Given the description of an element on the screen output the (x, y) to click on. 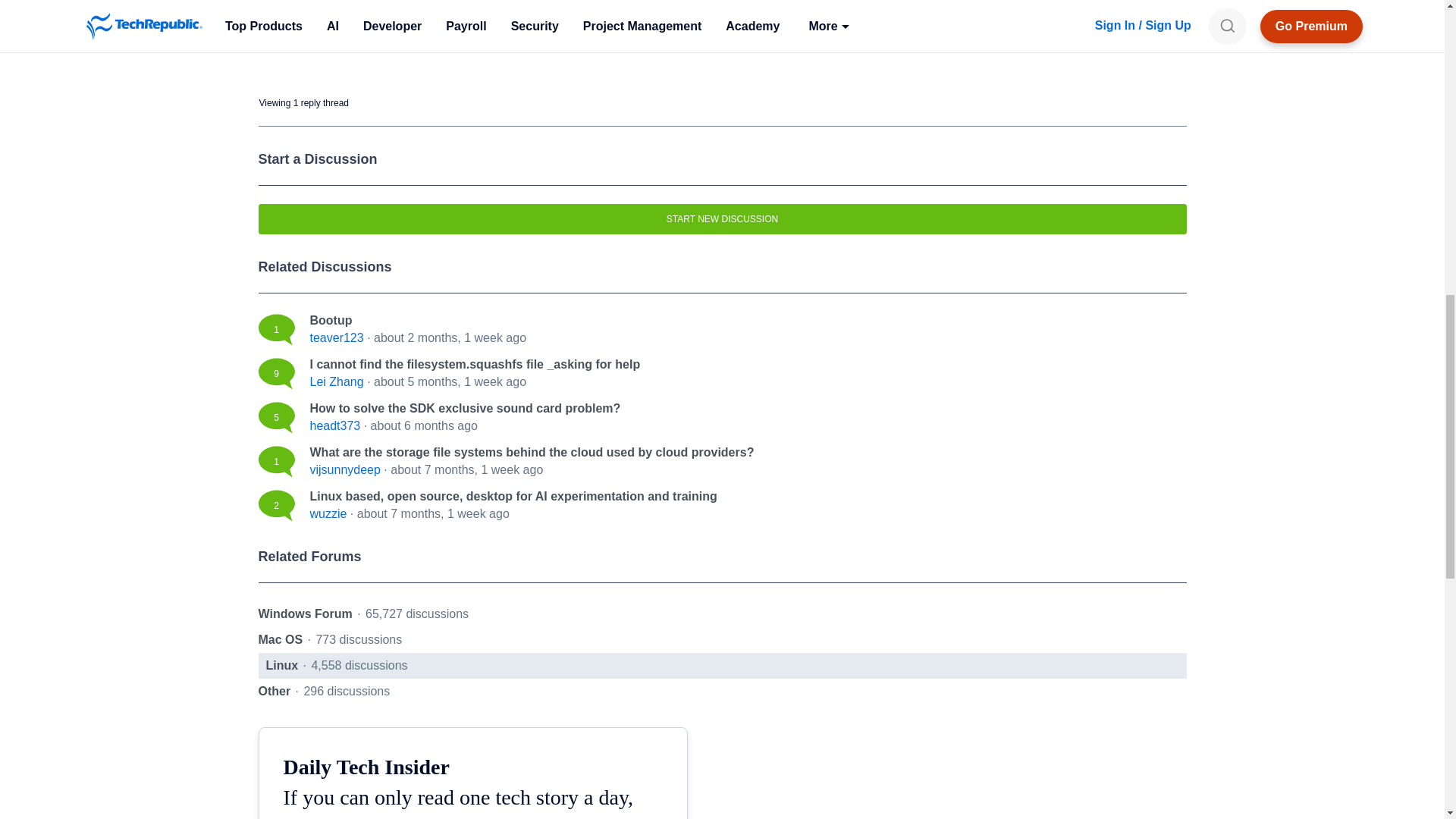
View teaver123's profile (335, 337)
View headt373's profile (333, 425)
View vijsunnydeep's profile (344, 469)
View Lei Zhang's profile (335, 381)
View wuzzie's profile (327, 513)
